Given the description of an element on the screen output the (x, y) to click on. 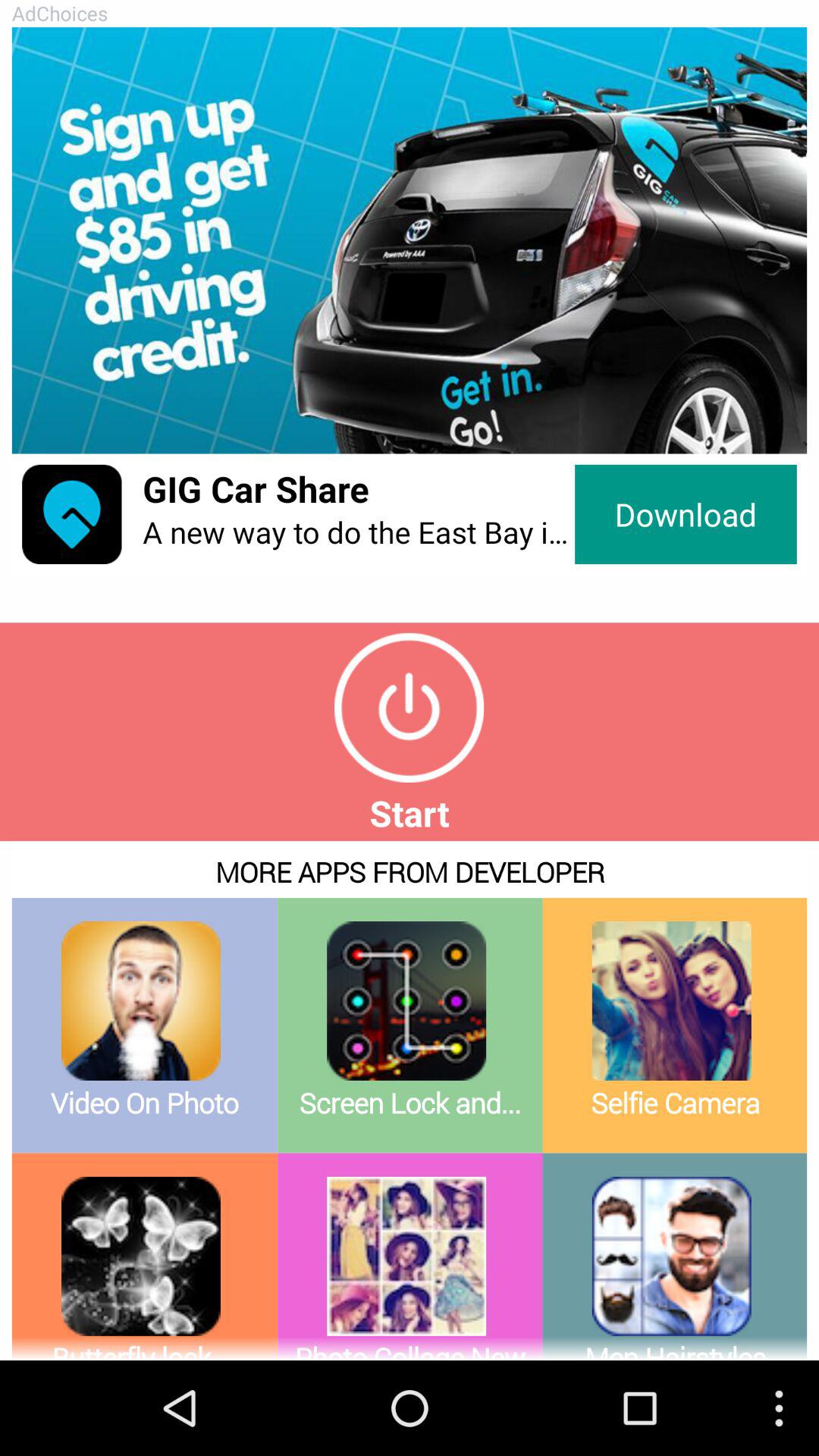
view more apps (409, 1100)
